Given the description of an element on the screen output the (x, y) to click on. 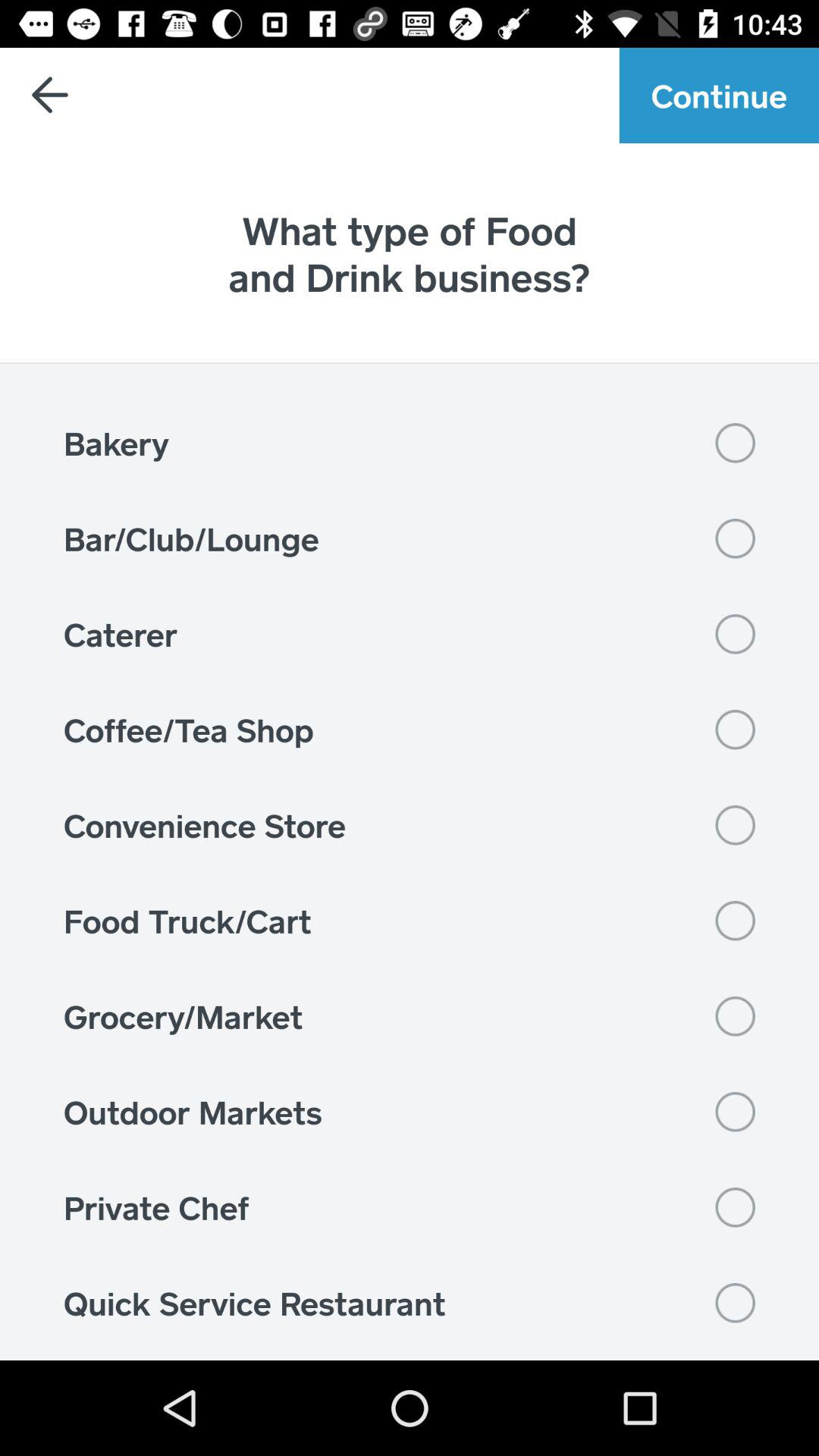
scroll until grocery/market icon (409, 1016)
